Given the description of an element on the screen output the (x, y) to click on. 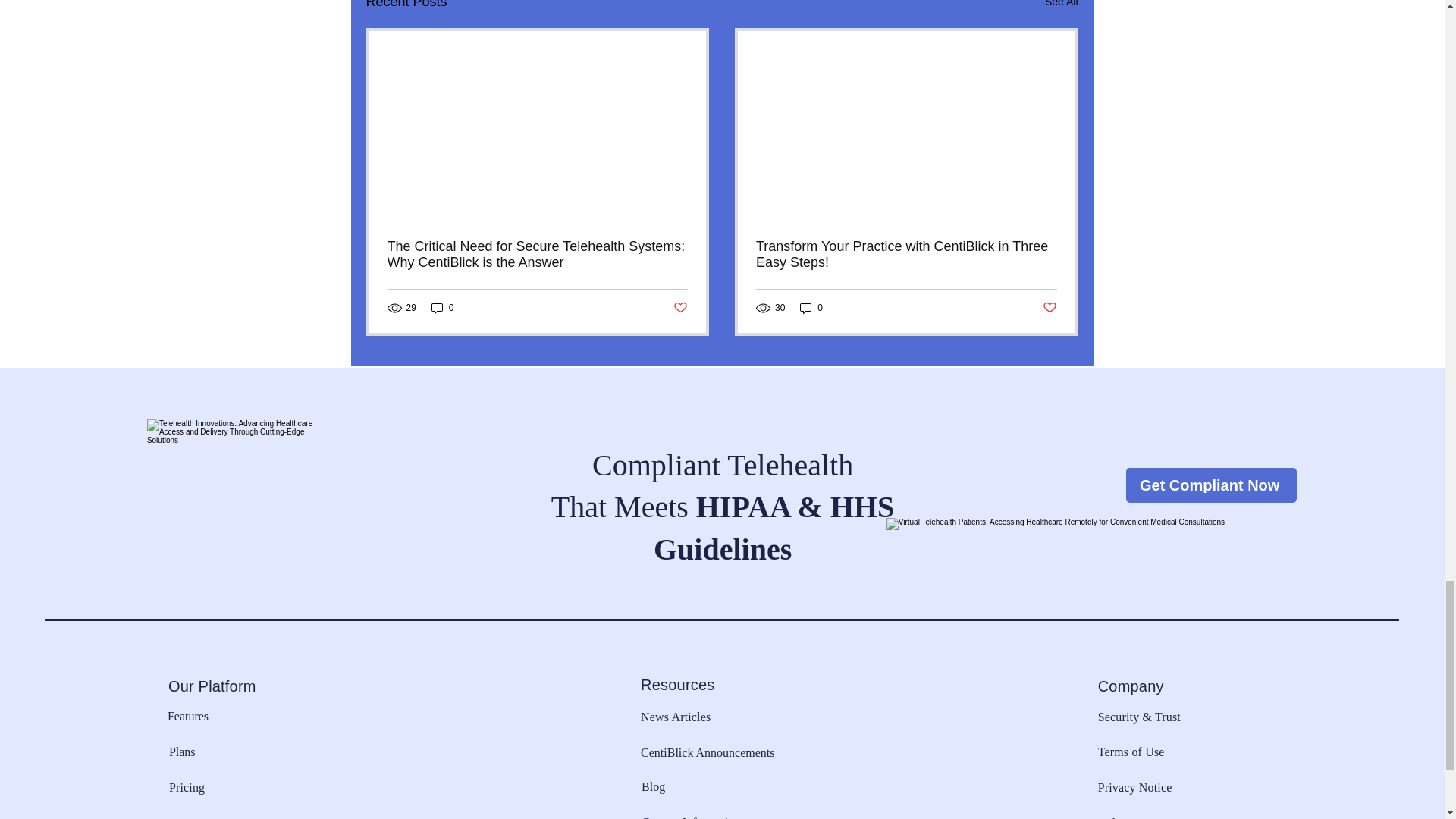
Post not marked as liked (679, 308)
See All (1061, 6)
Post not marked as liked (1049, 308)
Transform Your Practice with CentiBlick in Three Easy Steps! (906, 255)
0 (442, 308)
0 (810, 308)
